Given the description of an element on the screen output the (x, y) to click on. 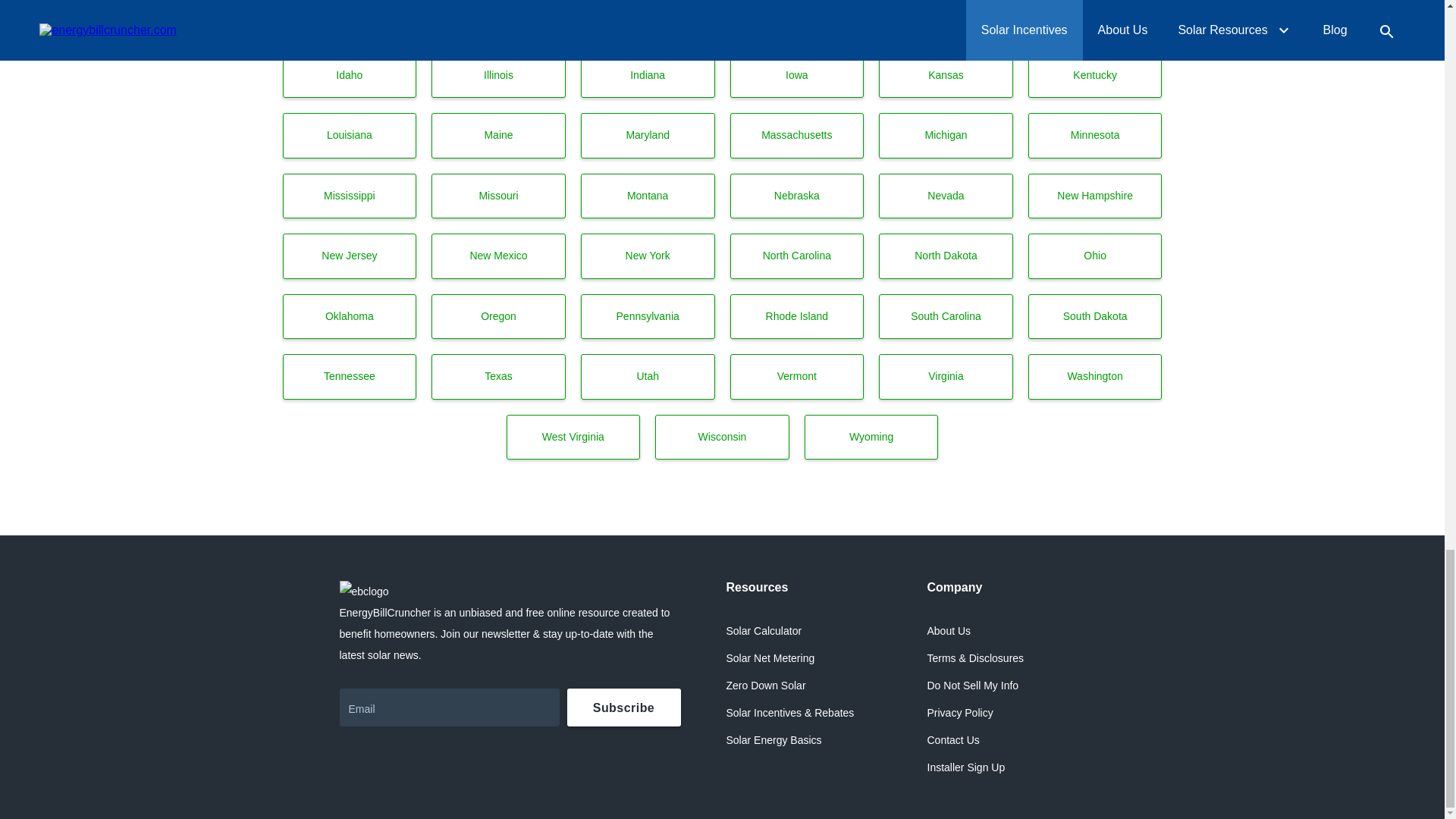
Mississippi (349, 196)
Florida (796, 18)
Connecticut (349, 18)
Hawaii (1094, 18)
Illinois (498, 75)
Michigan (946, 135)
Massachusetts (796, 135)
District of Columbia (647, 18)
Missouri (498, 196)
Indiana (647, 75)
Kentucky (1094, 75)
Minnesota (1094, 135)
Idaho (349, 75)
Georgia (946, 18)
Maine (498, 135)
